Given the description of an element on the screen output the (x, y) to click on. 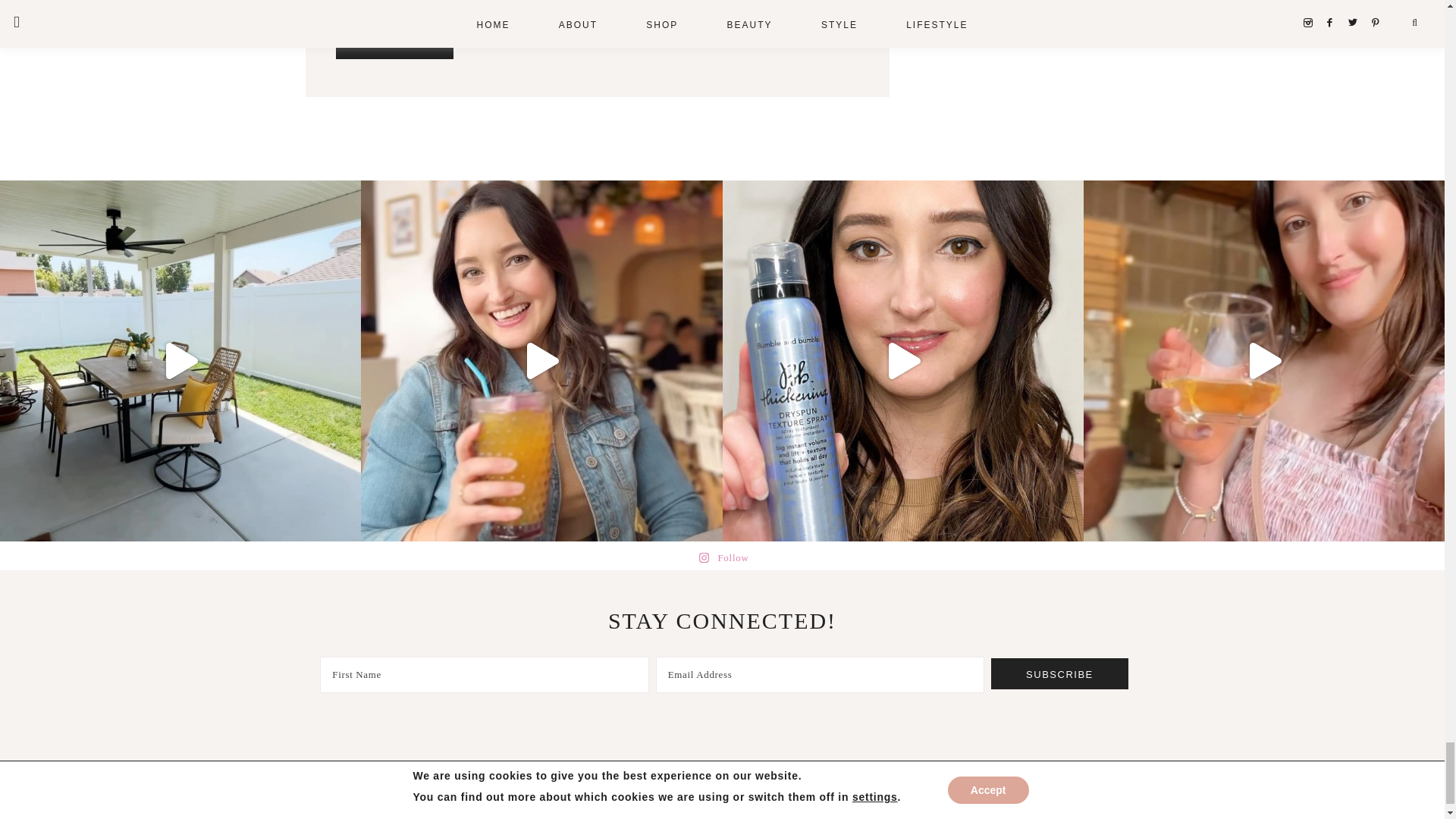
Subscribe (1059, 674)
subscribe (339, 1)
Post Comment (393, 43)
